Given the description of an element on the screen output the (x, y) to click on. 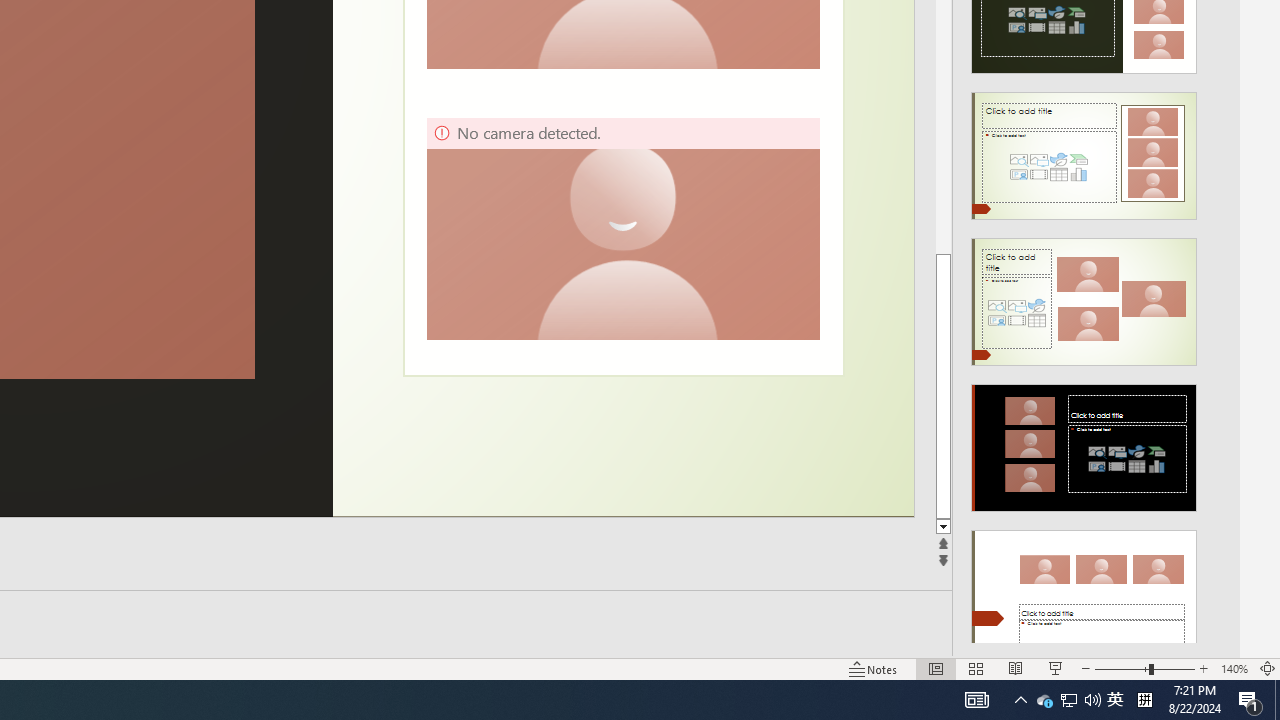
Zoom 140% (1234, 668)
Camera 4, No camera detected. (622, 228)
